Given the description of an element on the screen output the (x, y) to click on. 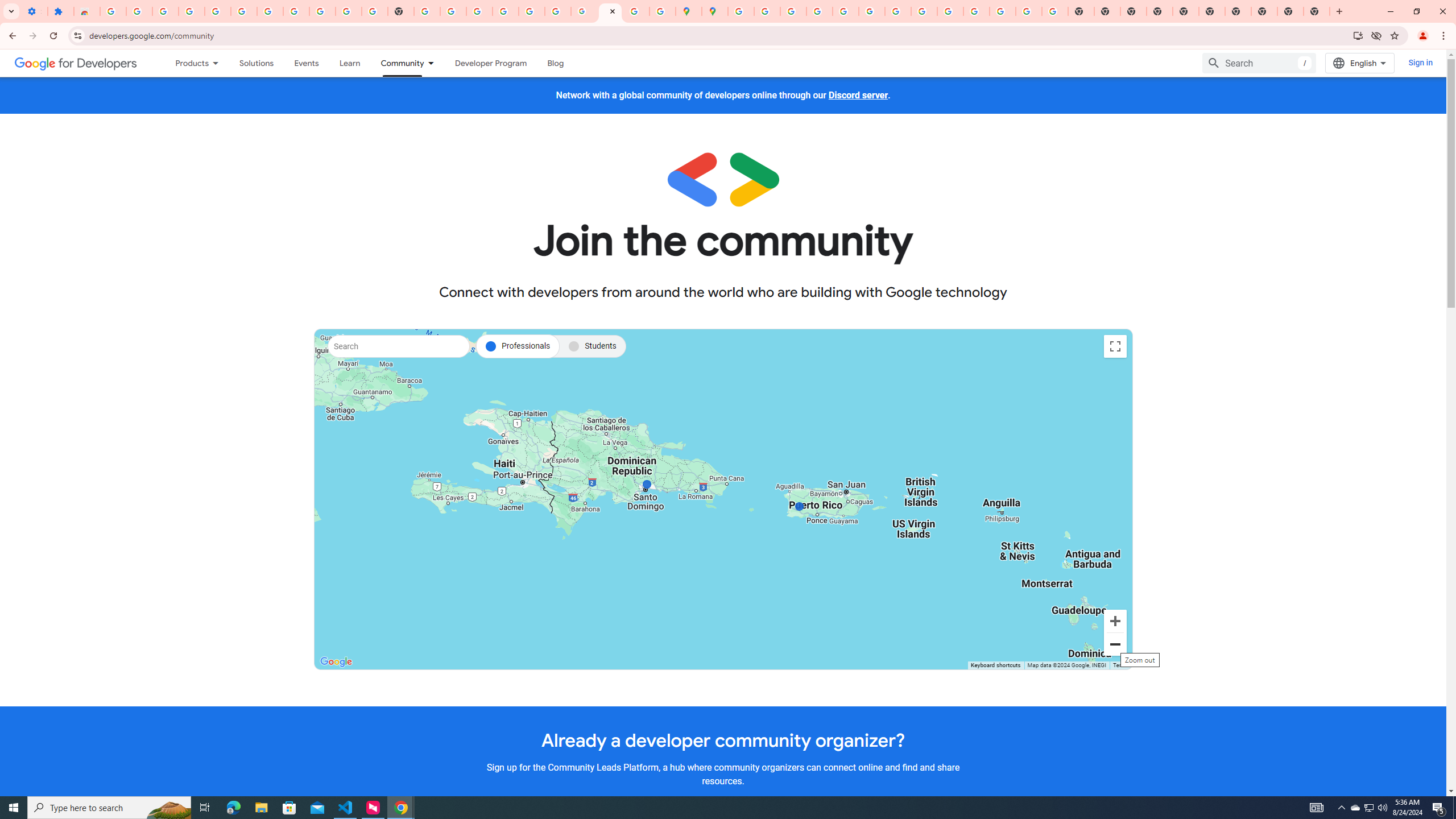
Sign in - Google Accounts (505, 11)
Sign in - Google Accounts (740, 11)
New Tab (1338, 11)
Search (398, 345)
Privacy Help Center - Policies Help (792, 11)
Events (306, 62)
Browse Chrome as a guest - Computer - Google Chrome Help (923, 11)
System (6, 6)
Search (1259, 63)
Dropdown menu for Community (433, 62)
https://scholar.google.com/ (427, 11)
